Given the description of an element on the screen output the (x, y) to click on. 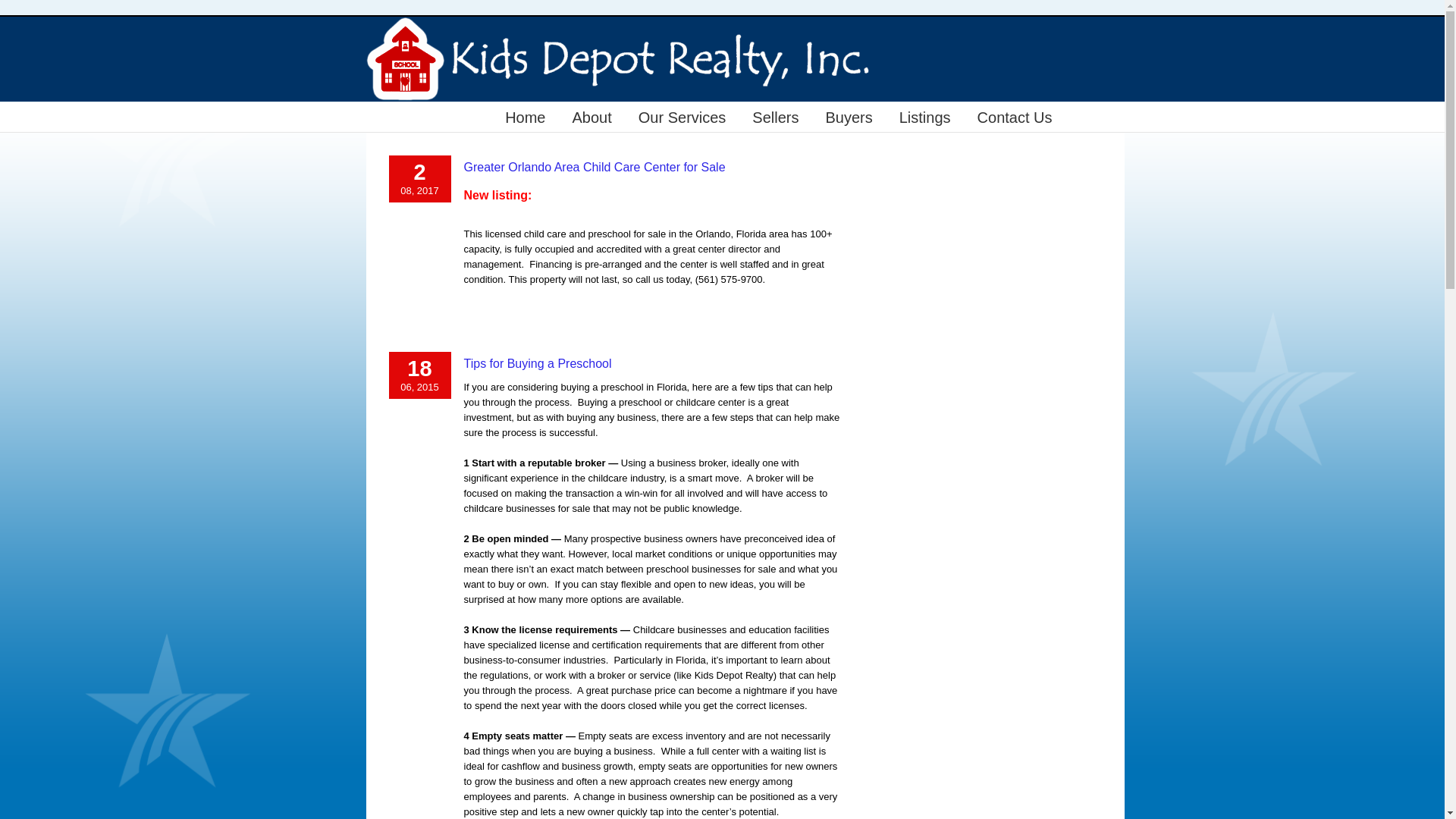
Contact Us (1014, 116)
Sellers (774, 116)
Our Services (682, 116)
Home (524, 116)
About (591, 116)
Tips for Buying a Preschool (537, 363)
Listings (924, 116)
Buyers (848, 116)
Greater Orlando Area Child Care Center for Sale (594, 166)
